Given the description of an element on the screen output the (x, y) to click on. 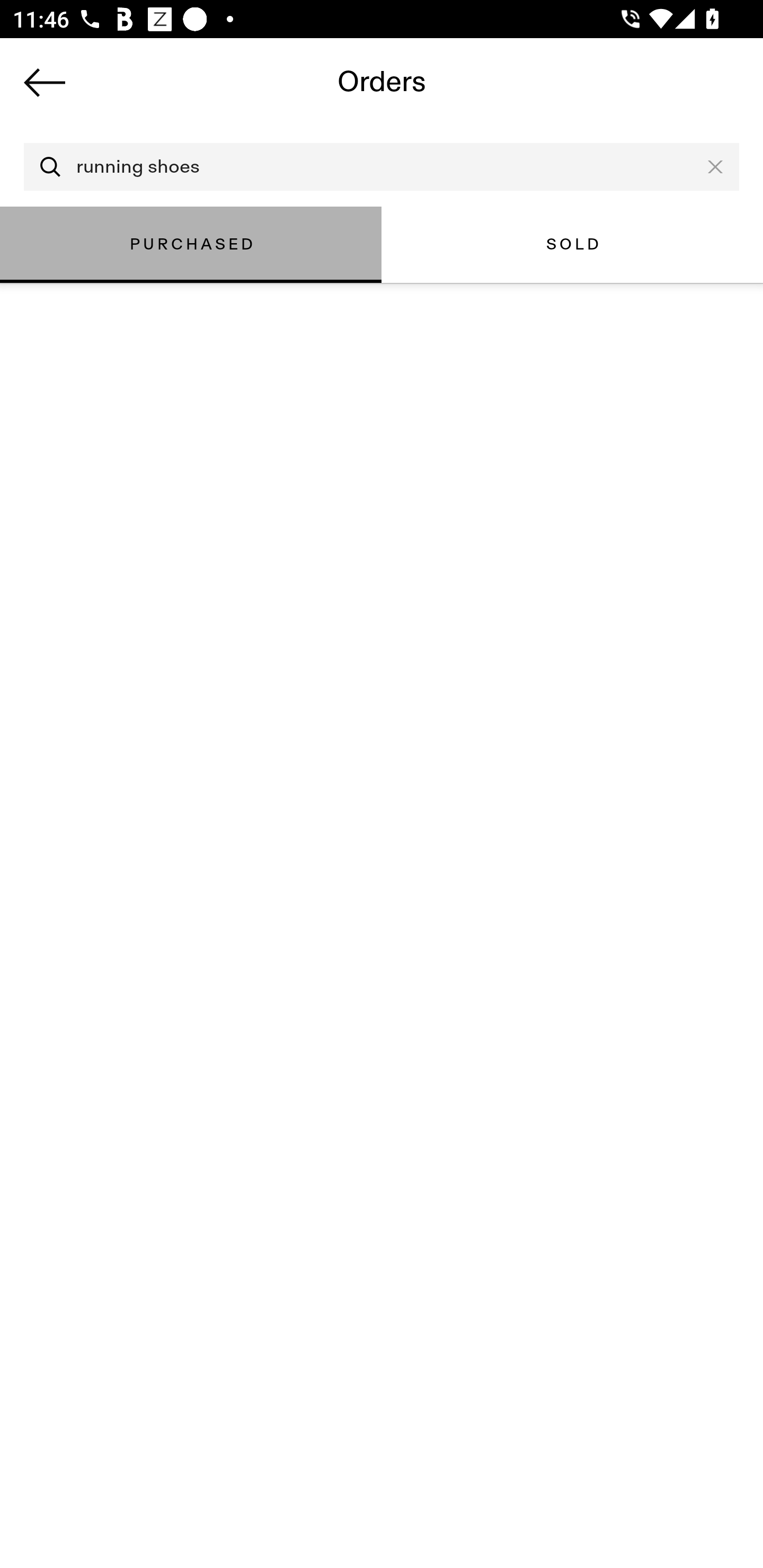
Navigate up (44, 82)
running shoes (381, 166)
SOLD (572, 244)
